Given the description of an element on the screen output the (x, y) to click on. 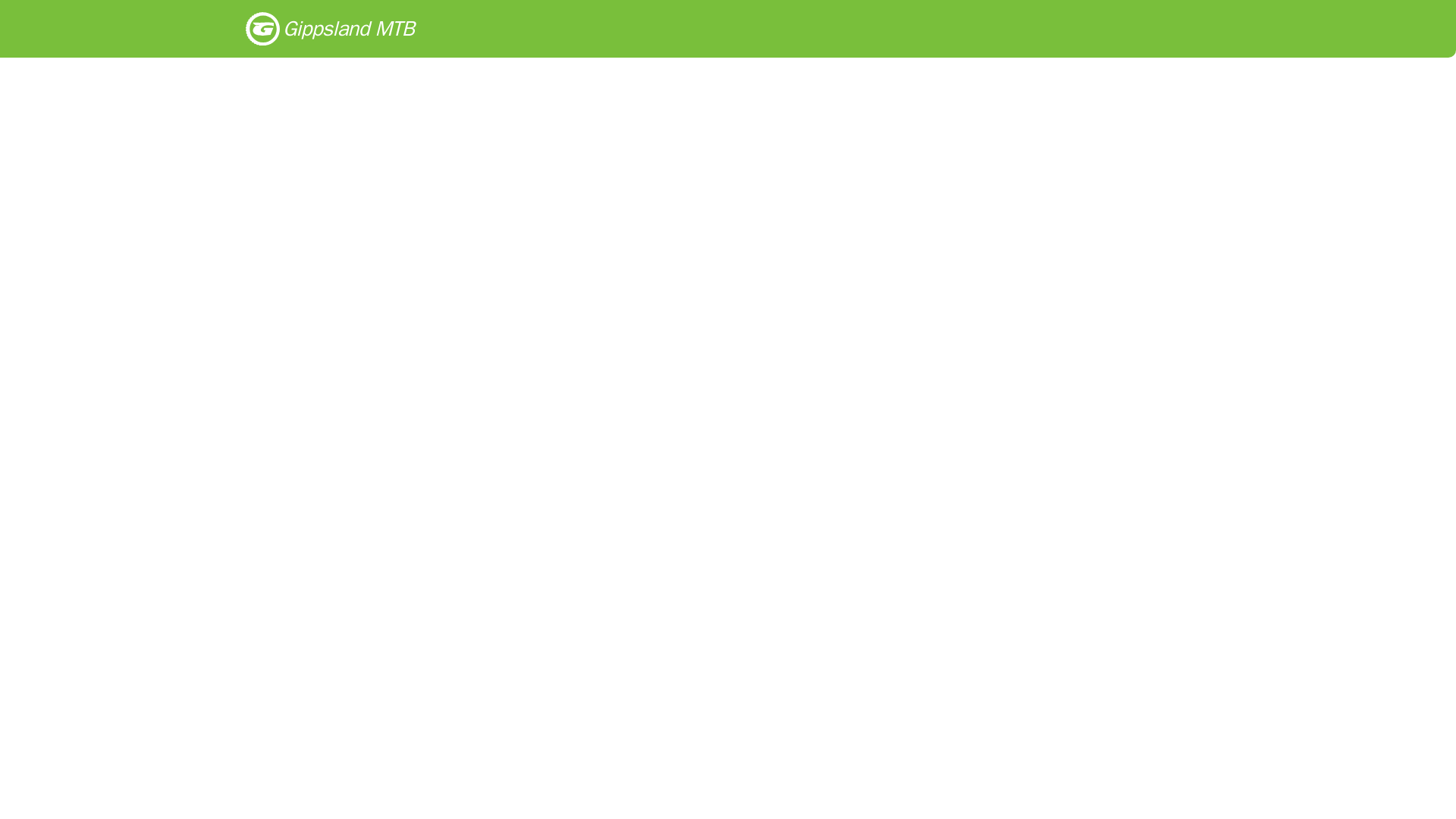
Gippsland MTB (329, 28)
